Given the description of an element on the screen output the (x, y) to click on. 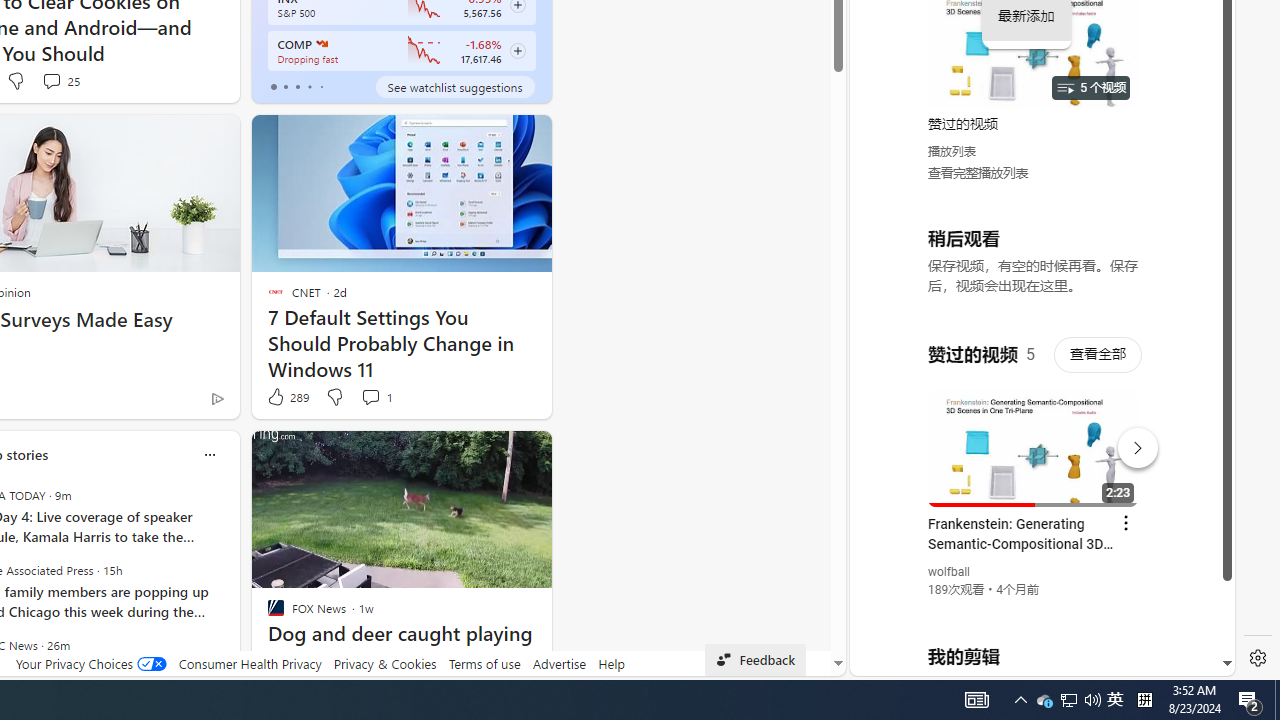
Click to scroll right (1196, 83)
Terms of use (484, 663)
View comments 25 Comment (60, 80)
